Given the description of an element on the screen output the (x, y) to click on. 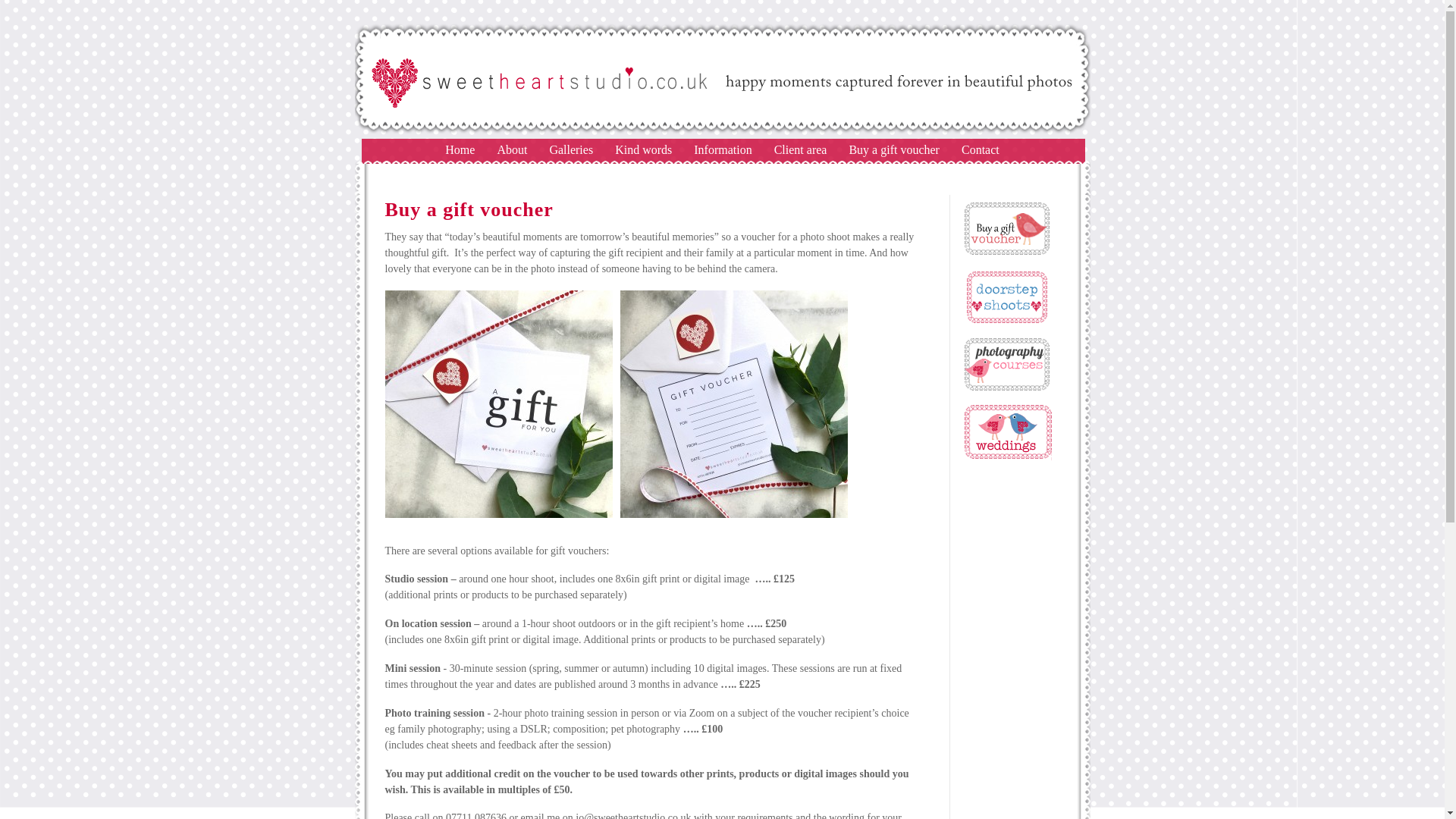
About (511, 150)
Galleries (570, 150)
Home (459, 150)
Buy a gift voucher (893, 150)
Information (722, 150)
Sweetheart Studio (722, 132)
Kind words (642, 150)
Client area (800, 150)
Sweetheart Studio (459, 150)
Contact (979, 150)
